Given the description of an element on the screen output the (x, y) to click on. 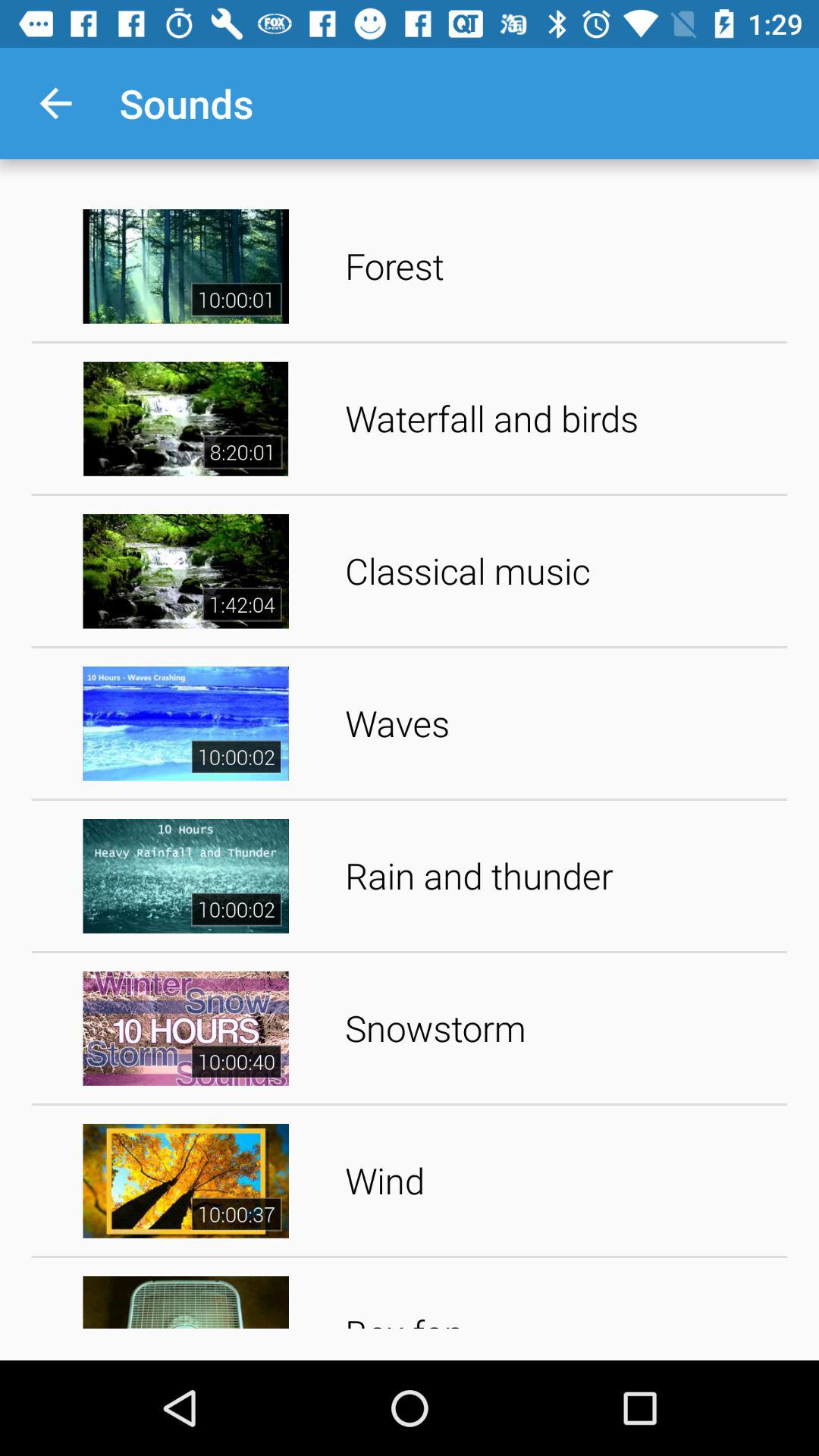
press the item below the wind app (560, 1298)
